Given the description of an element on the screen output the (x, y) to click on. 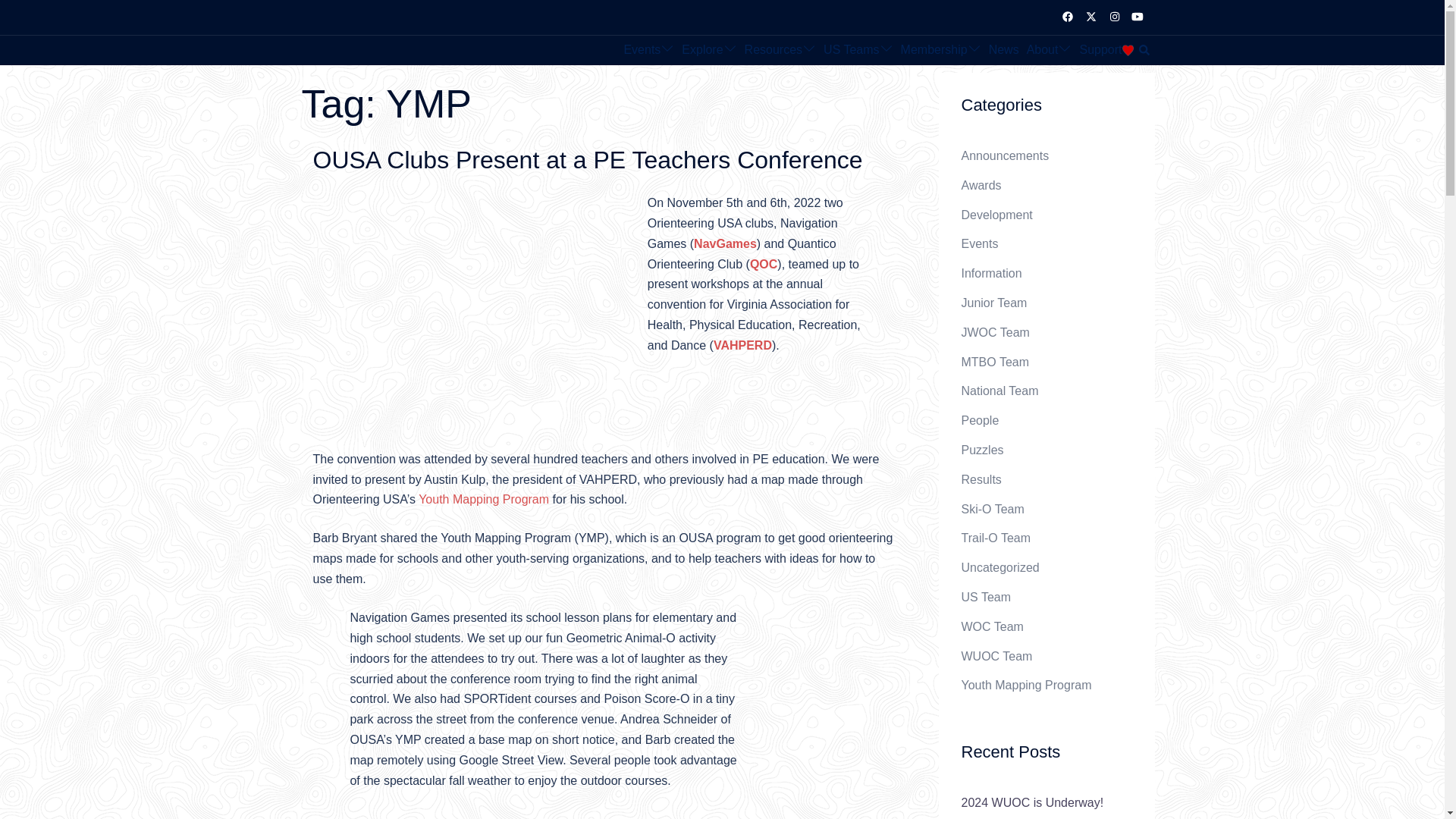
Resources (773, 50)
News (1003, 50)
About (1042, 50)
Events (642, 50)
US Teams (851, 50)
Explore (701, 50)
Information on Orienteering Events (642, 50)
Membership (934, 50)
